Given the description of an element on the screen output the (x, y) to click on. 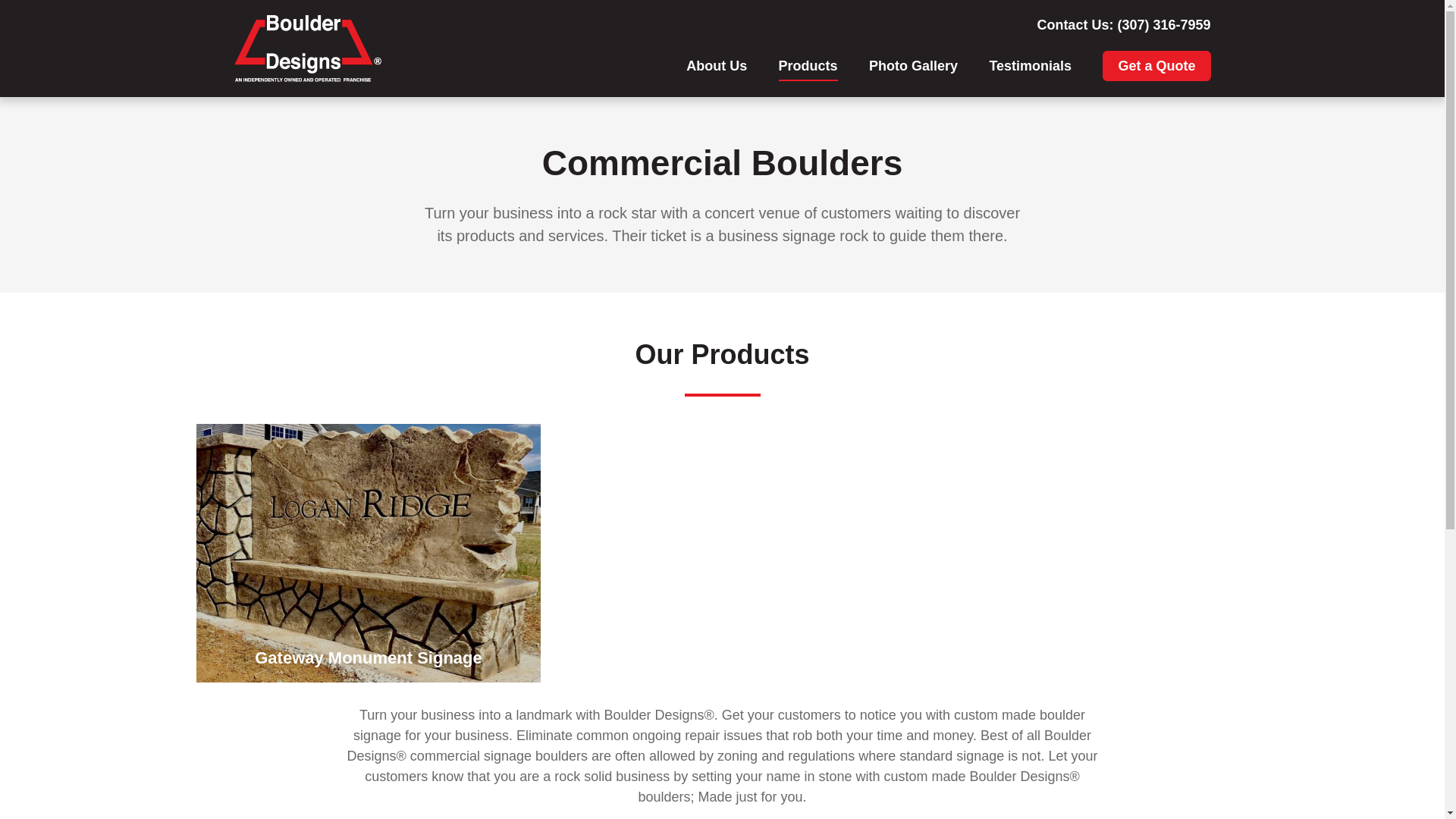
Get a Quote (1155, 65)
About Us (715, 65)
Boulder Designs by Greenway  (306, 48)
Products (808, 65)
Testimonials (1029, 65)
Photo Gallery (913, 65)
